Given the description of an element on the screen output the (x, y) to click on. 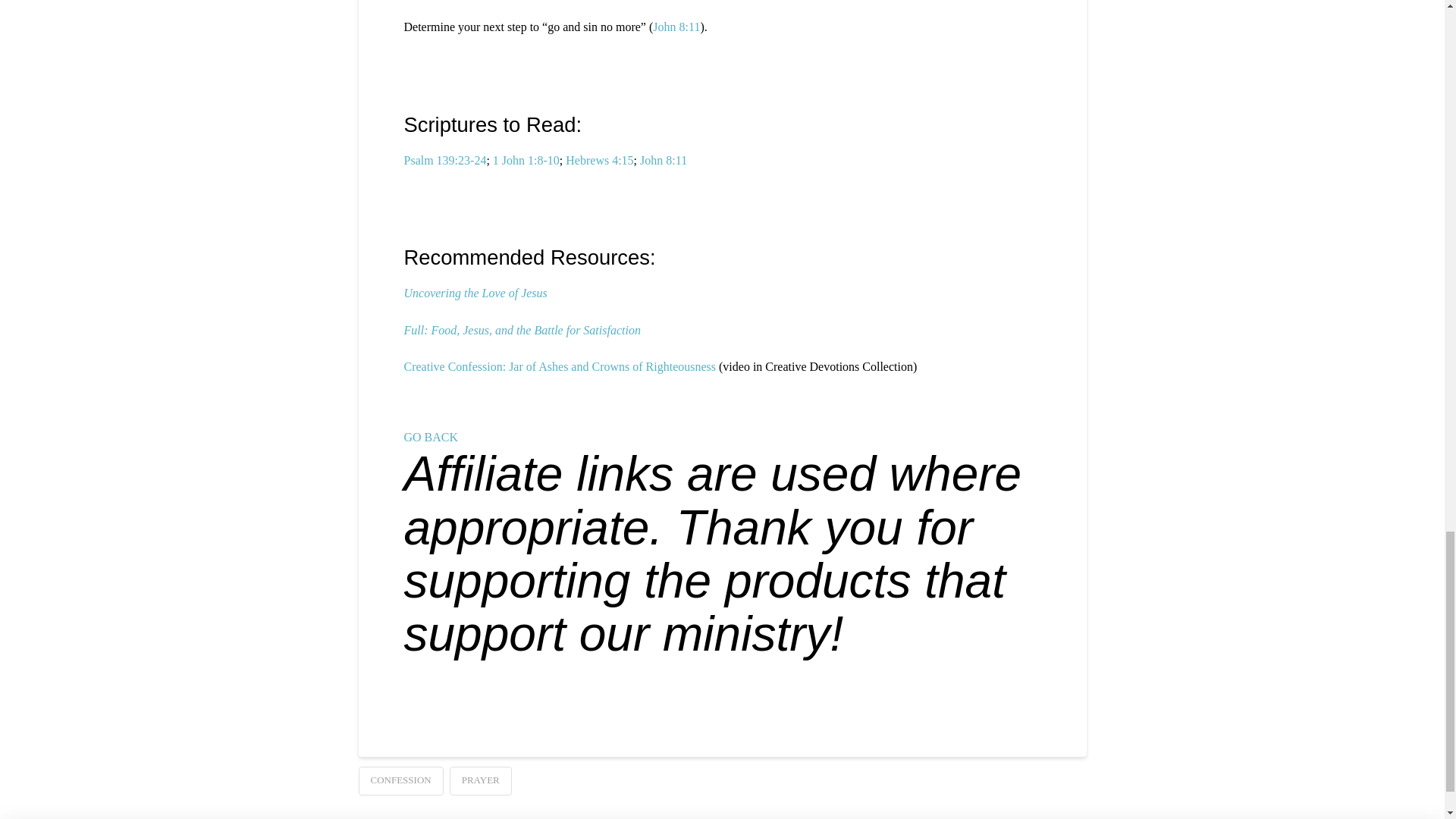
John 8:11 (663, 160)
PRAYER (480, 780)
1 John 1:8-10 (526, 160)
Psalm 139:23-24 (444, 160)
Full: Food, Jesus, and the Battle for Satisfaction (521, 329)
GO BACK (430, 436)
Uncovering the Love of Jesus (475, 292)
CONFESSION (400, 780)
Hebrews 4:15 (599, 160)
